Given the description of an element on the screen output the (x, y) to click on. 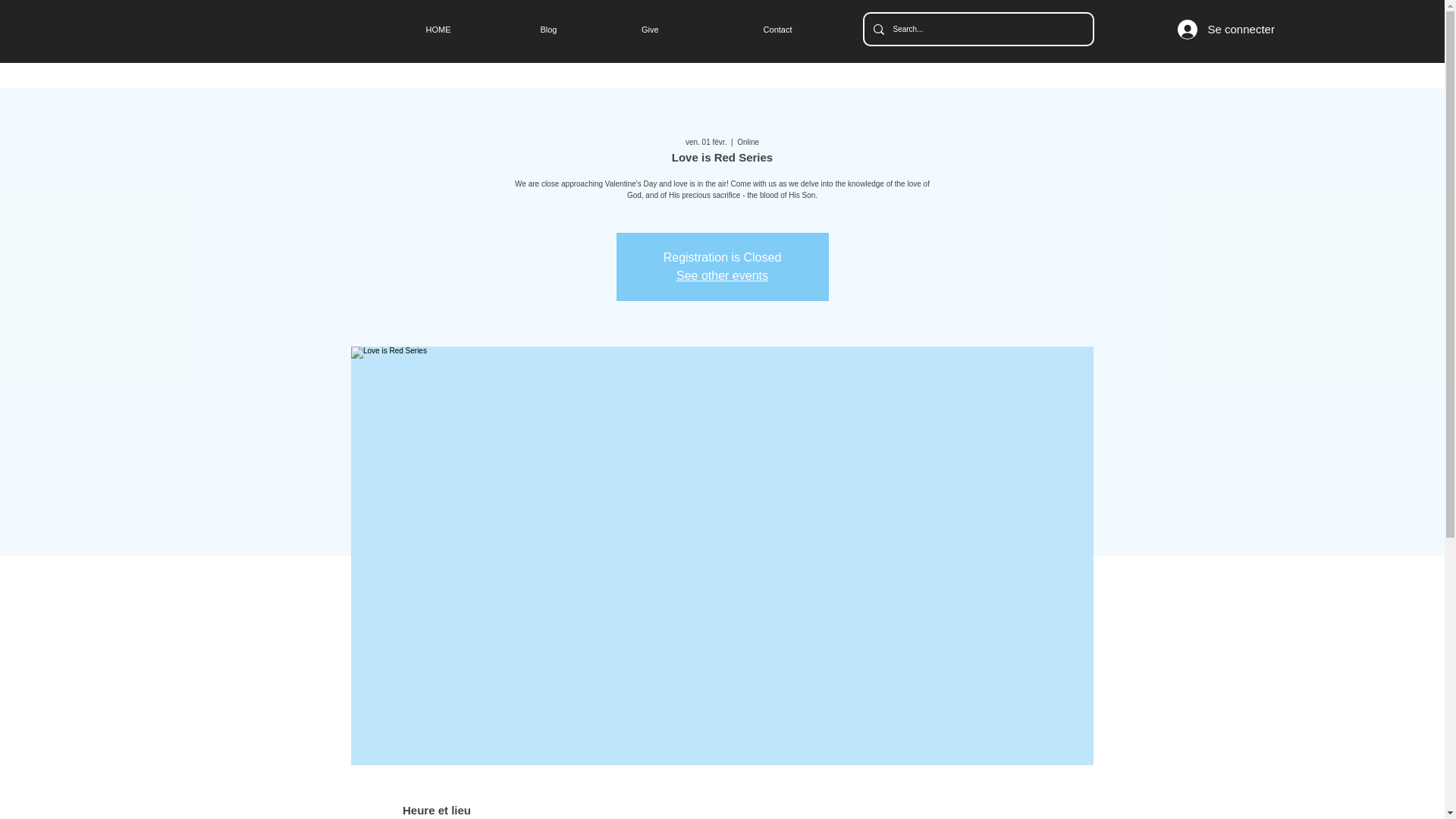
Se connecter (1211, 29)
Contact (732, 29)
Give (614, 29)
Blog (511, 29)
See other events (722, 275)
HOME (404, 29)
